Given the description of an element on the screen output the (x, y) to click on. 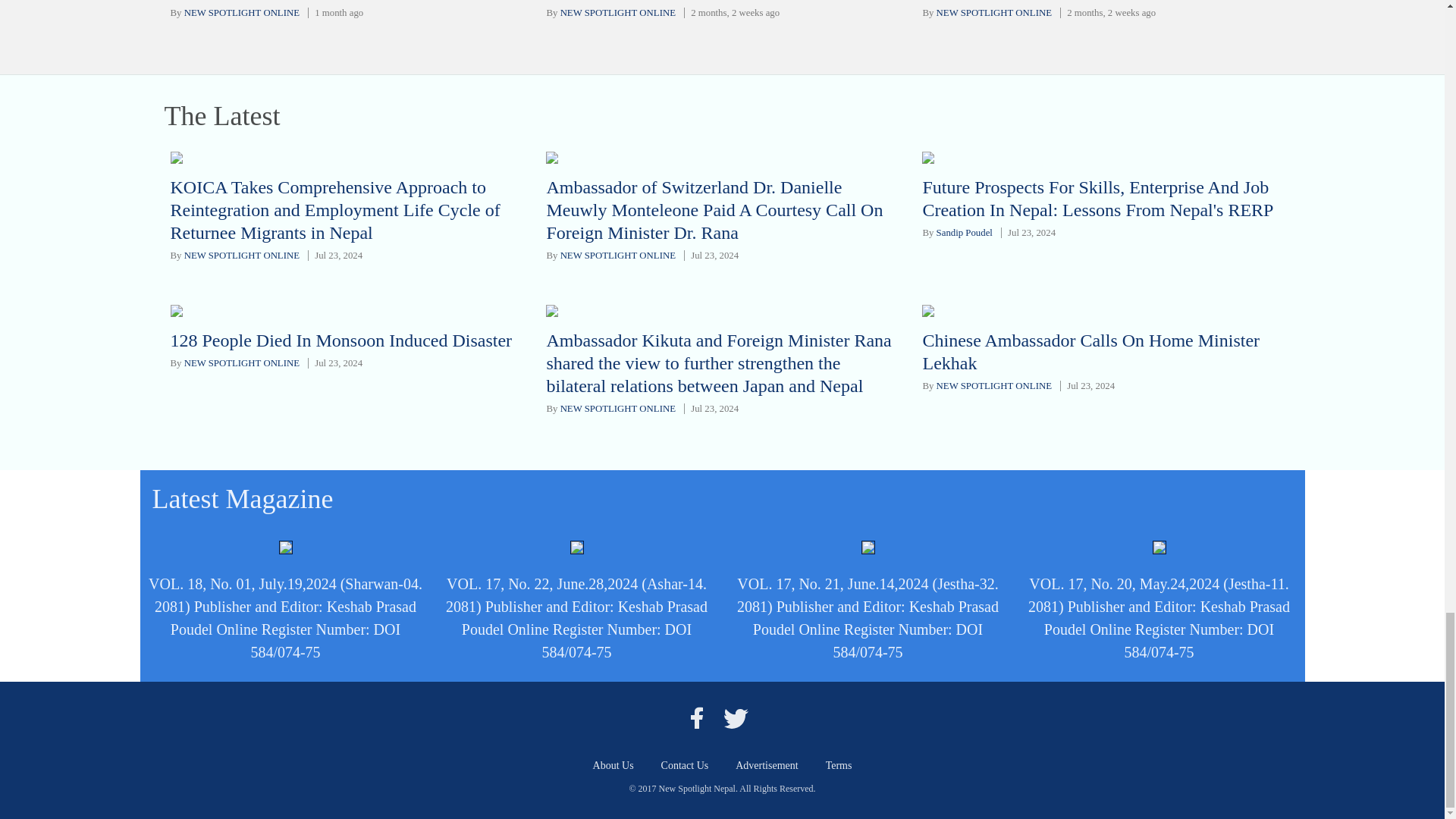
Spotlight Nepal Twitter (735, 717)
Spotlight Nepal Facebook (695, 717)
NEW SPOTLIGHT ONLINE (617, 12)
NEW SPOTLIGHT ONLINE (241, 12)
NEW SPOTLIGHT ONLINE (993, 12)
twitter icon (735, 717)
facebook icon (695, 717)
